Given the description of an element on the screen output the (x, y) to click on. 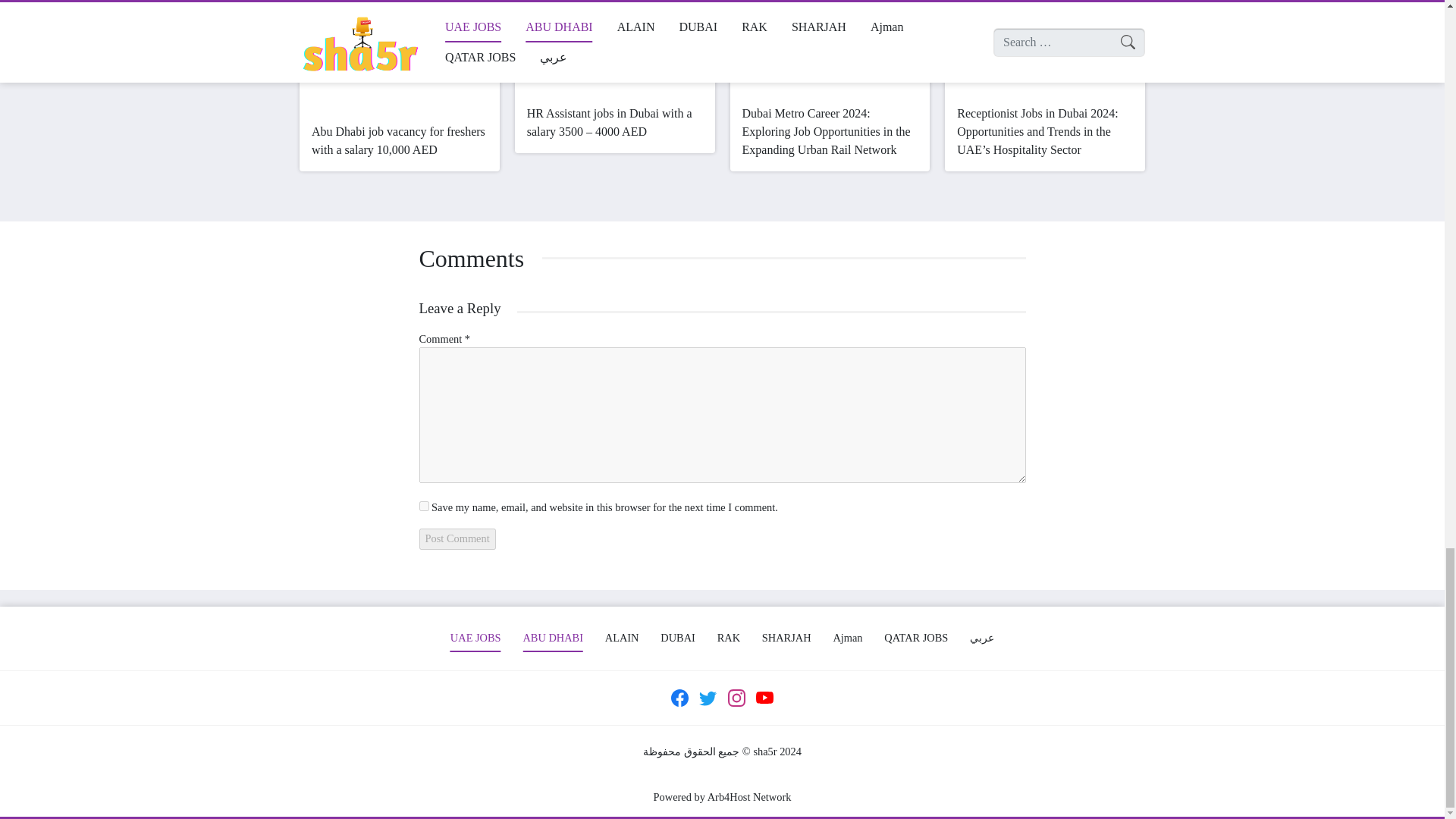
Post Comment (457, 538)
yes (423, 506)
